Given the description of an element on the screen output the (x, y) to click on. 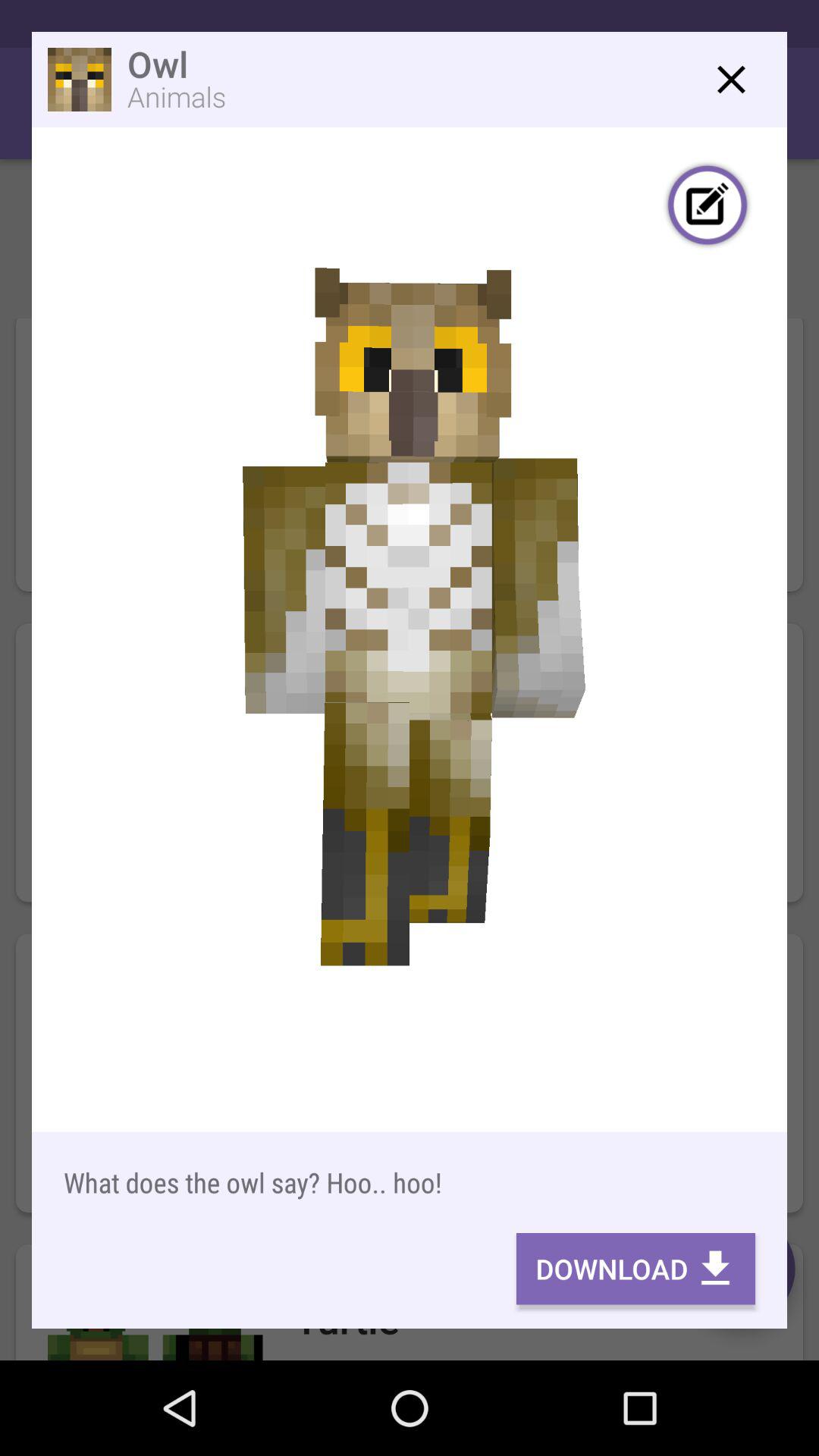
edit the messsage (707, 206)
